Given the description of an element on the screen output the (x, y) to click on. 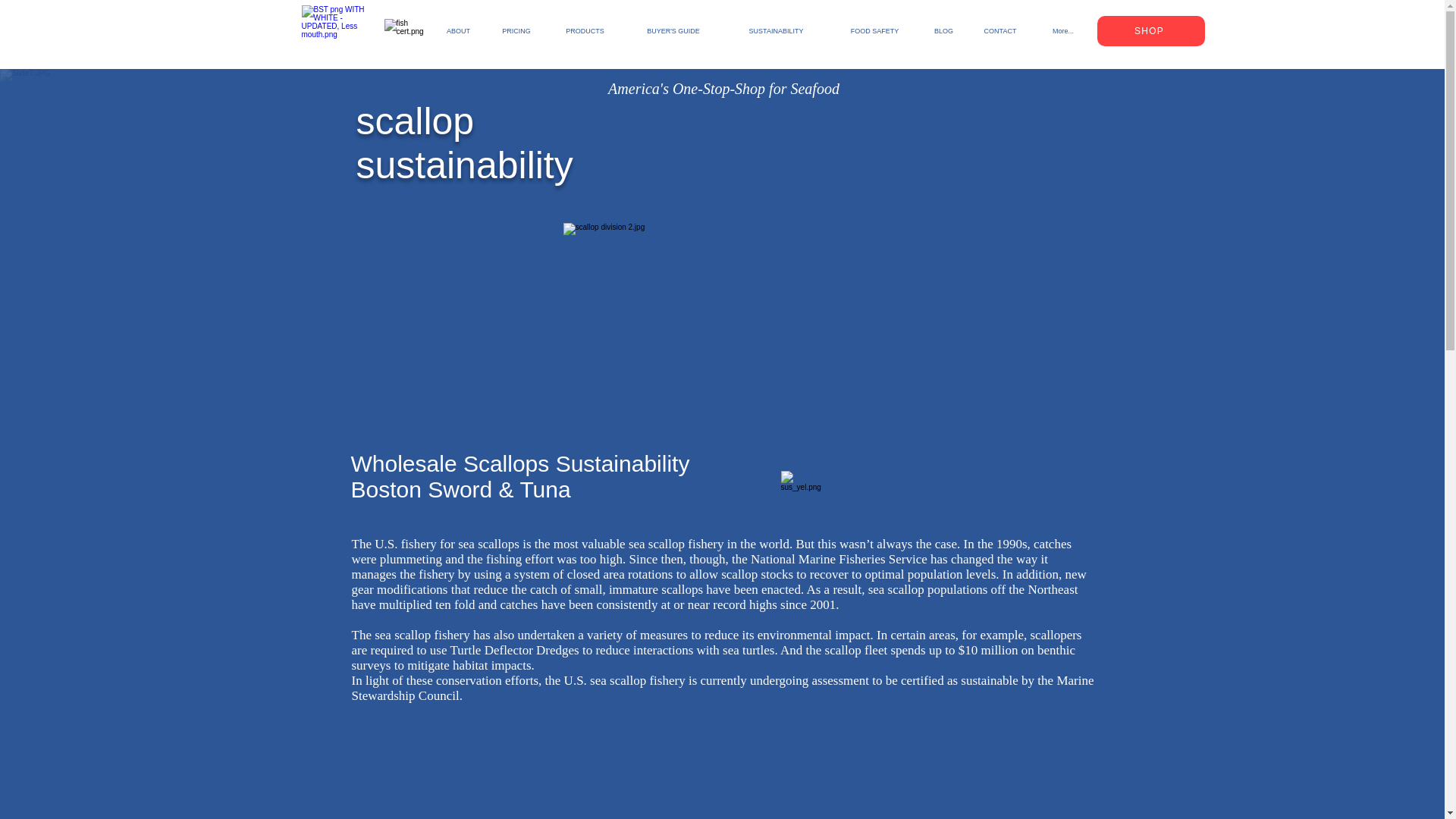
BLOG (943, 30)
FOOD SAFETY (874, 30)
CONTACT (999, 30)
PRICING (515, 30)
